Given the description of an element on the screen output the (x, y) to click on. 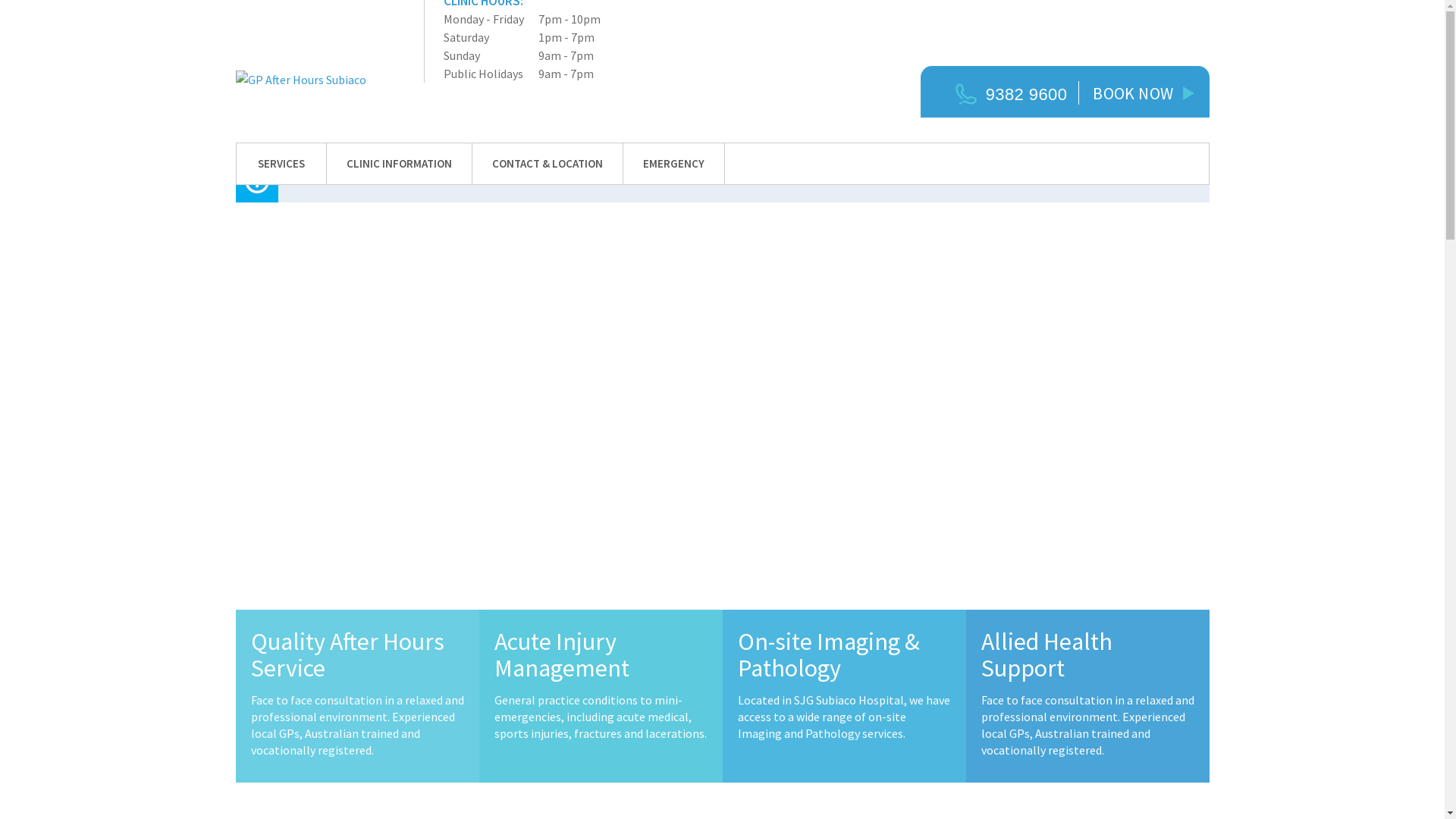
SERVICES Element type: text (280, 163)
CONTACT & LOCATION Element type: text (547, 163)
EMERGENCY Element type: text (672, 163)
BOOK NOW Element type: text (1142, 92)
9382 9600 Element type: text (1018, 93)
GP After Hours Subiaco Element type: hover (318, 89)
CLINIC INFORMATION Element type: text (399, 163)
